Given the description of an element on the screen output the (x, y) to click on. 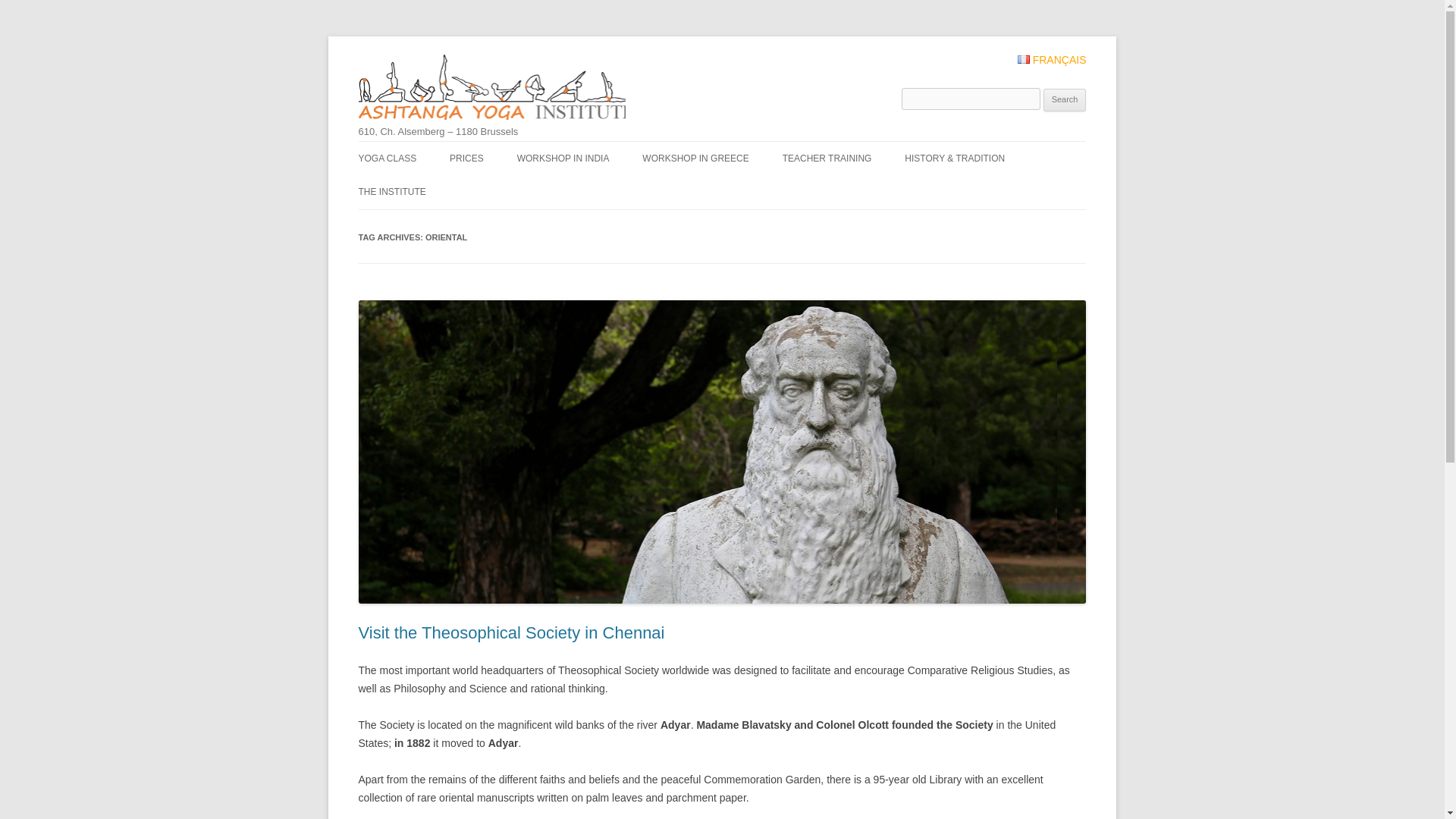
Visit the Theosophical Society in Chennai (510, 632)
THE INSTITUTE (391, 191)
Yoga teacher training (827, 158)
WORKSHOP IN GREECE (695, 158)
WORKSHOP IN INDIA (563, 158)
Search (1064, 99)
Search (1064, 99)
Prices for the lessons Ashtanga Yoga Institute (466, 158)
TEACHER TRAINING (827, 158)
YOGA CLASS (387, 158)
PRICES (466, 158)
